Given the description of an element on the screen output the (x, y) to click on. 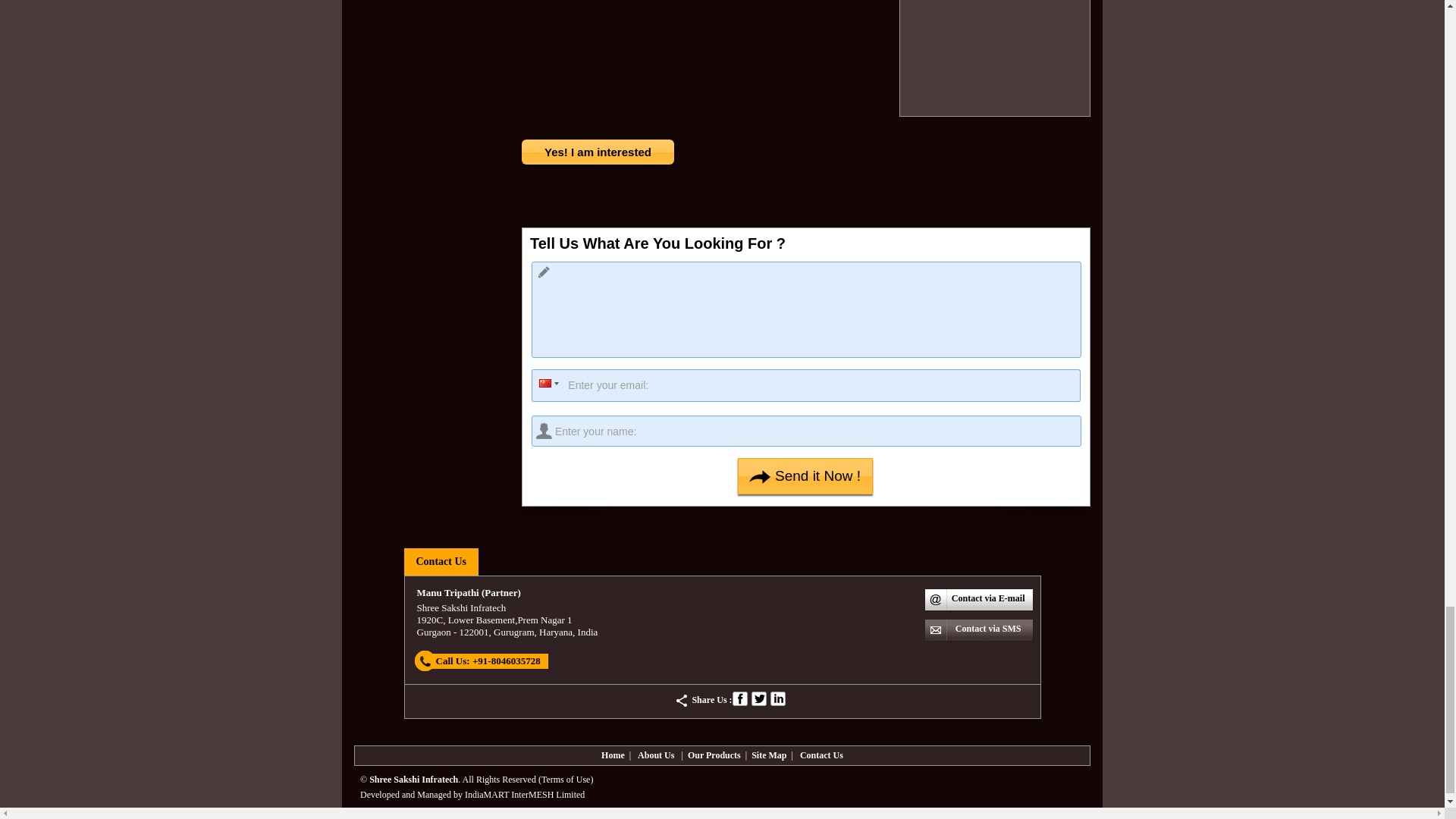
Send it Now ! (805, 475)
Enter your email: (805, 385)
Enter your name: (806, 430)
Send it Now ! (805, 475)
